Given the description of an element on the screen output the (x, y) to click on. 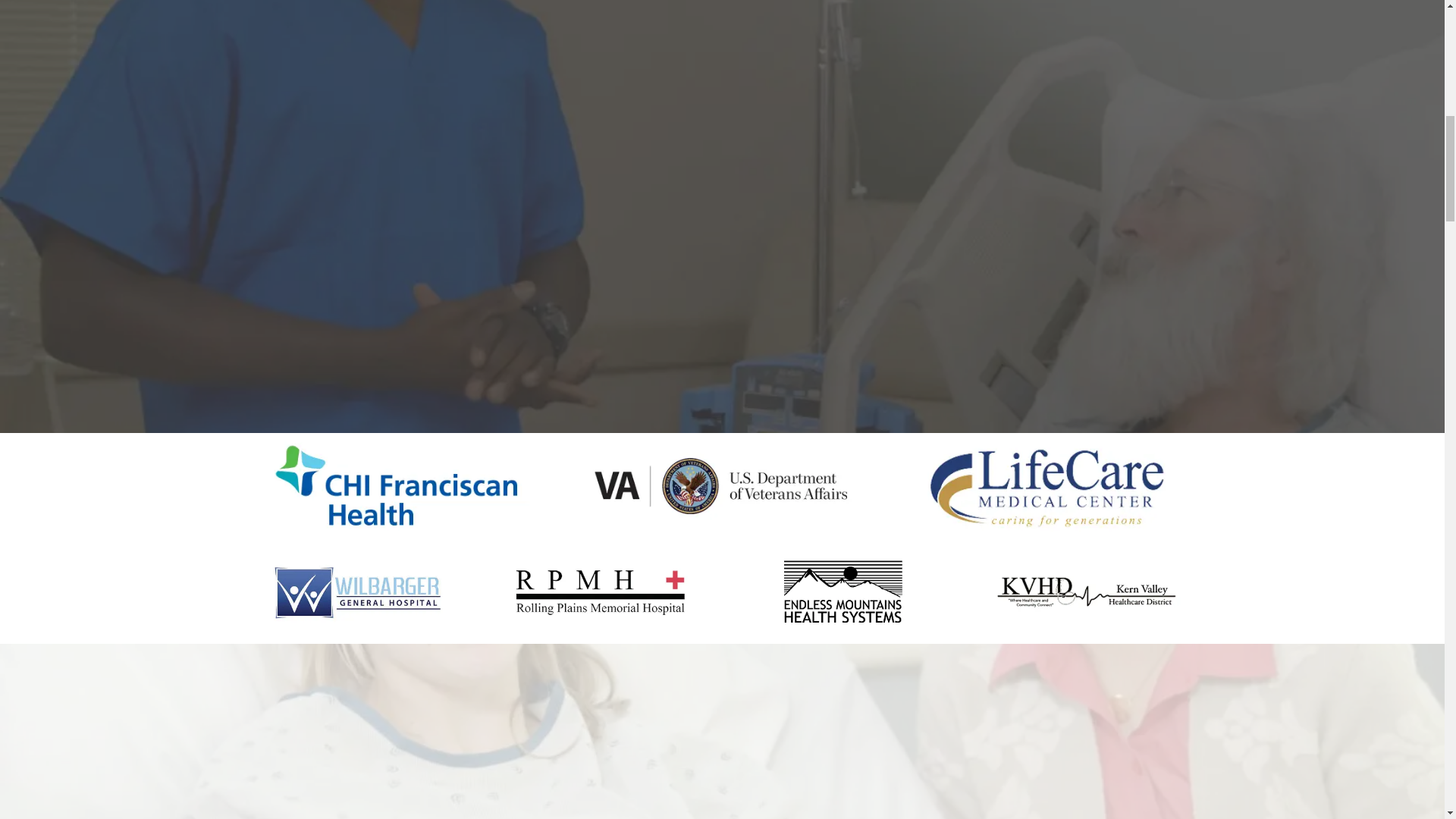
lifecare-mc (1046, 485)
endless-mtn (843, 591)
chi-franciscan (397, 485)
rolling-plains (600, 591)
wilbarger (357, 591)
oscar-johnson-va (722, 485)
kern-valley (1086, 591)
